Given the description of an element on the screen output the (x, y) to click on. 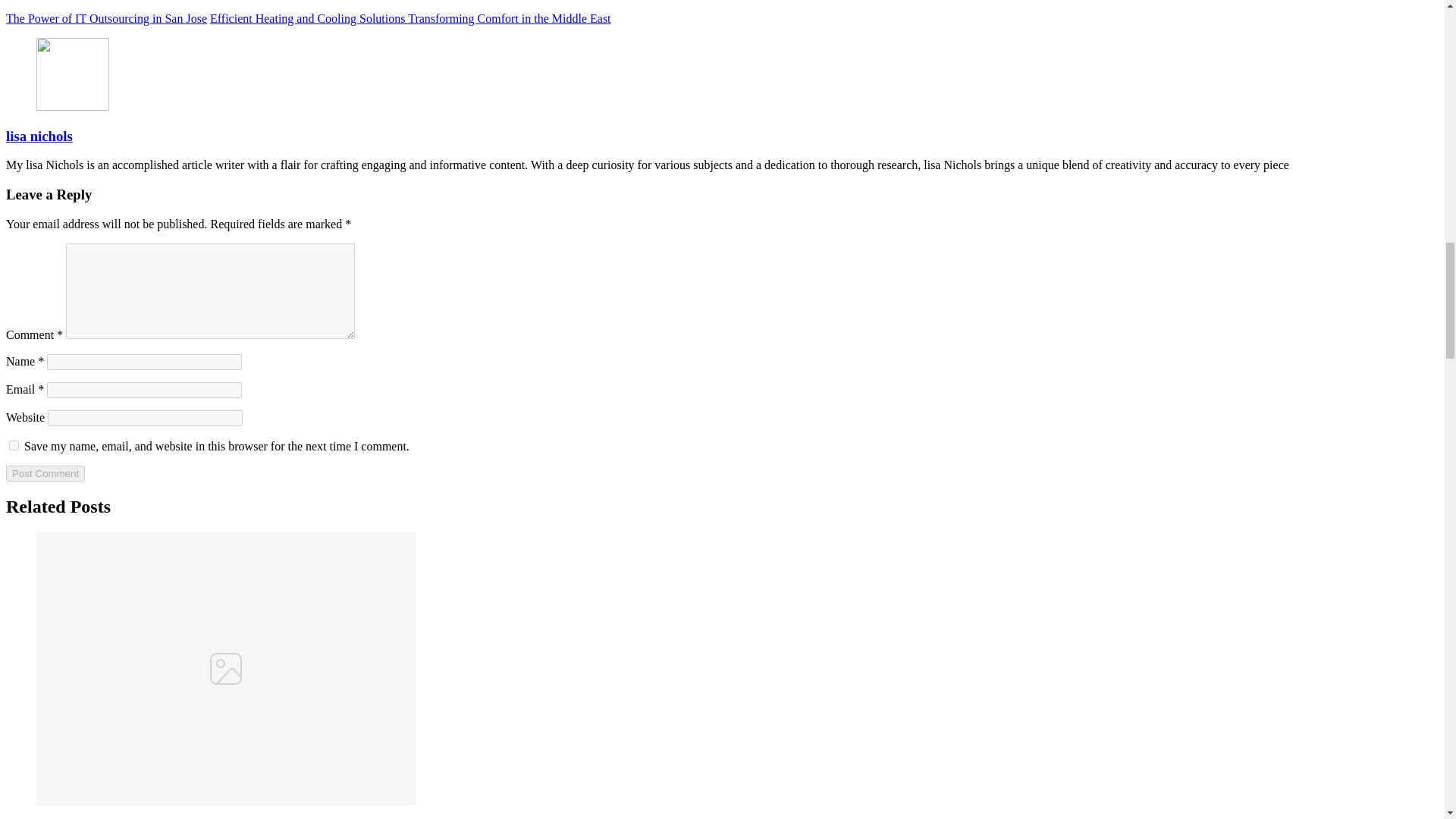
Post Comment (44, 473)
yes (13, 445)
